Given the description of an element on the screen output the (x, y) to click on. 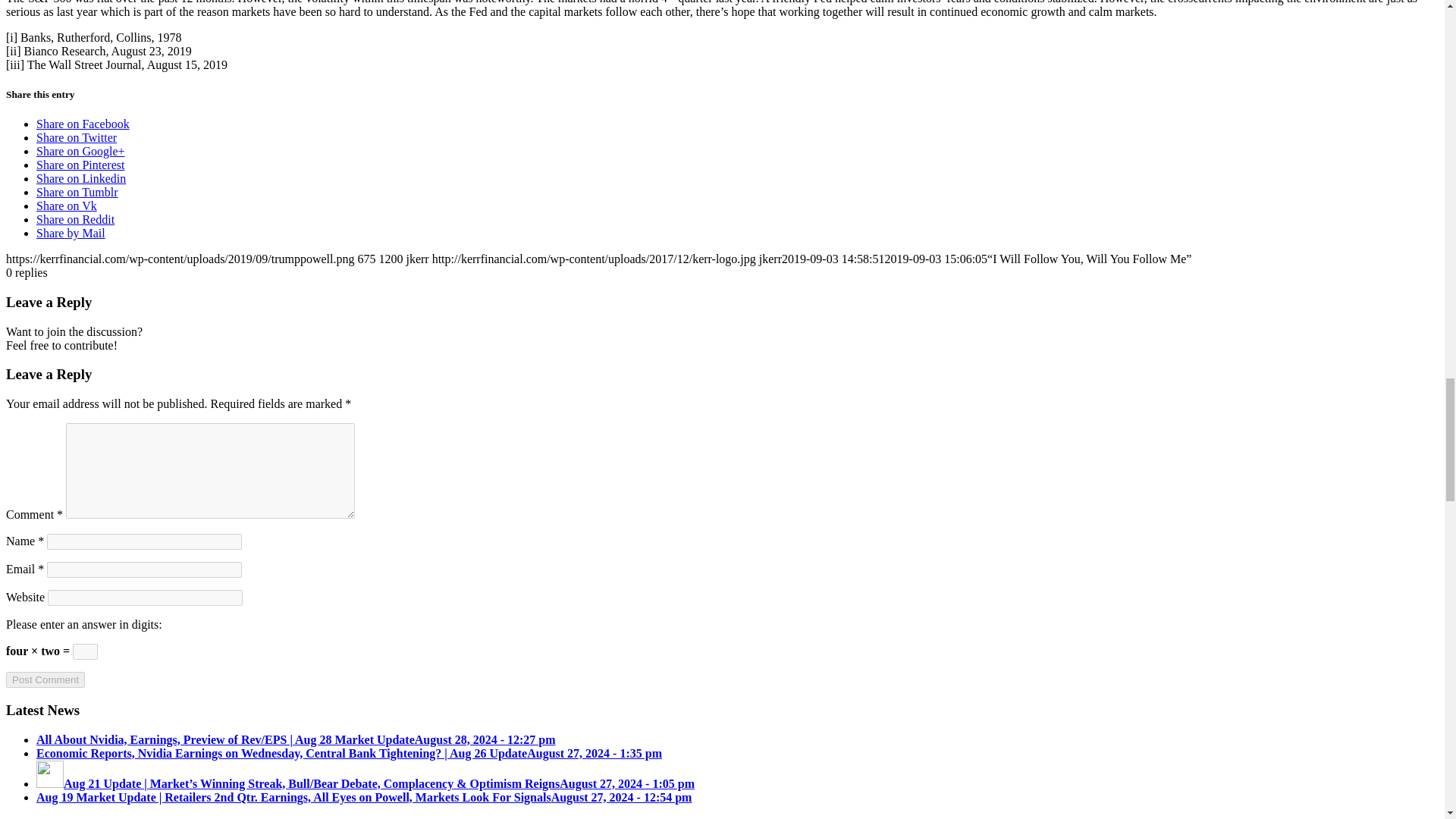
Share on Pinterest (79, 164)
Share on Twitter (76, 137)
Share on Linkedin (80, 178)
Post Comment (44, 679)
Share on Facebook (82, 123)
